Given the description of an element on the screen output the (x, y) to click on. 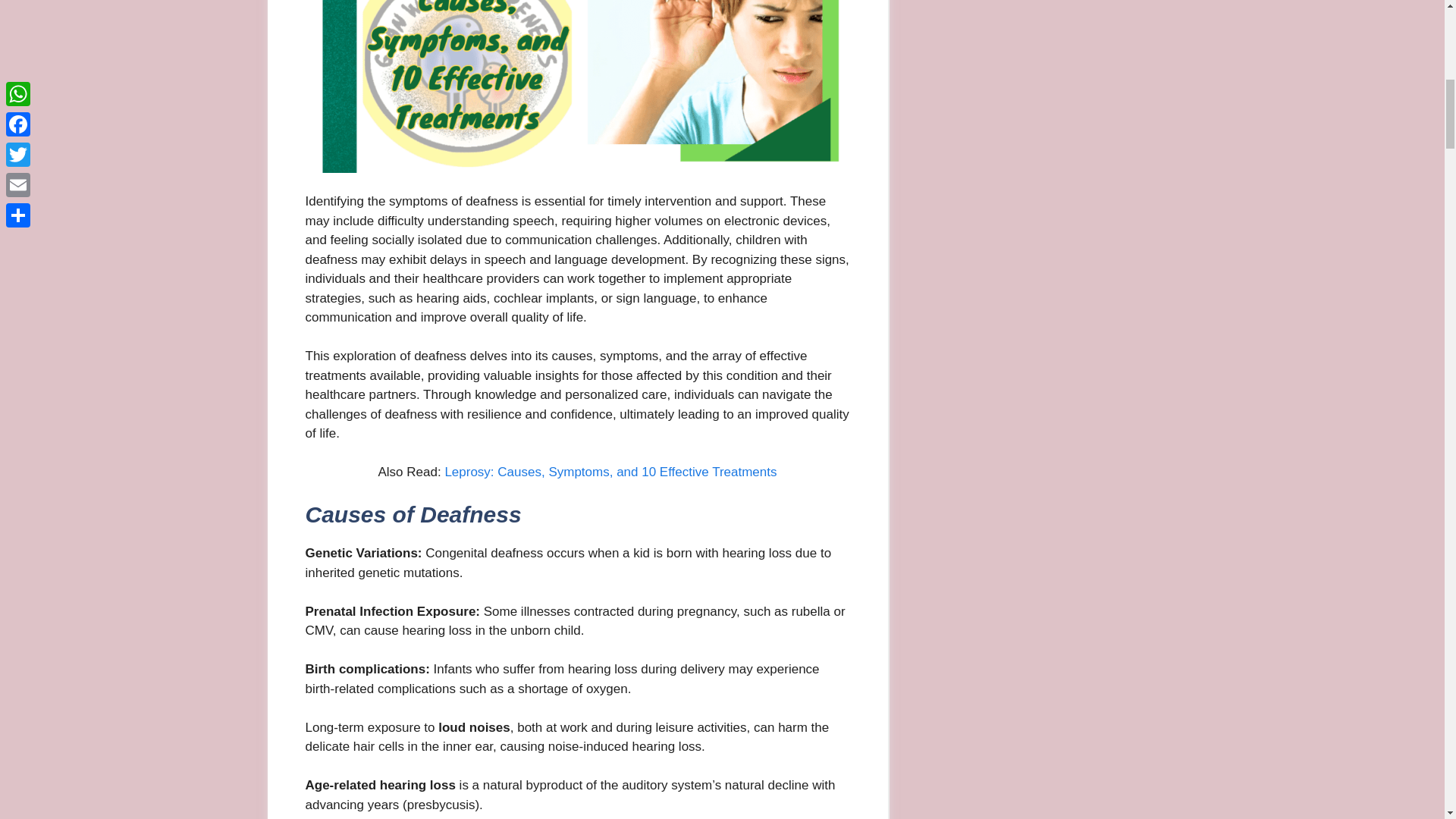
Leprosy: Causes, Symptoms, and 10 Effective Treatments (610, 472)
